Given the description of an element on the screen output the (x, y) to click on. 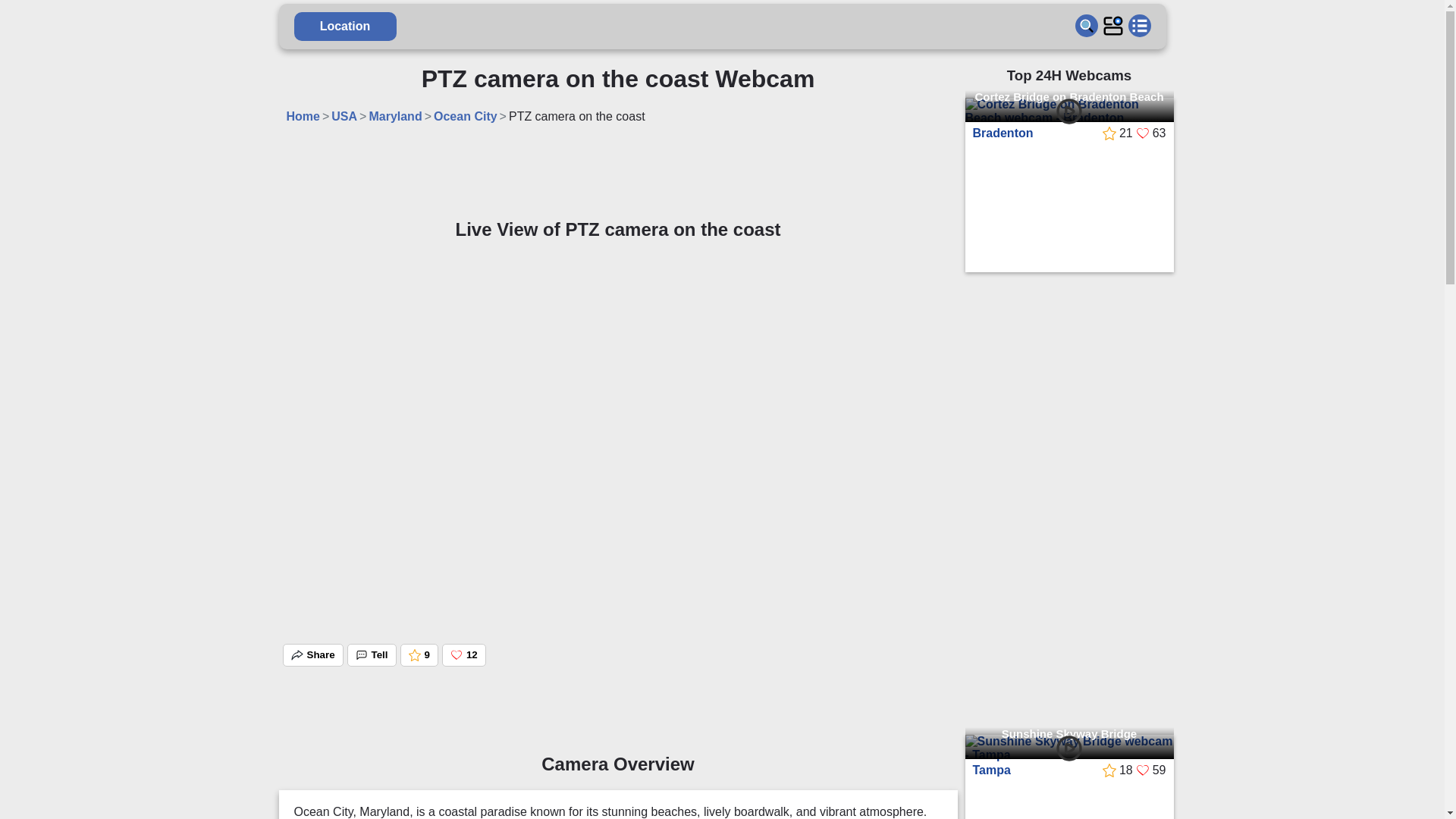
Ocean City (378, 123)
Location (257, 26)
Home (214, 123)
USA (256, 123)
Maryland (307, 123)
